Given the description of an element on the screen output the (x, y) to click on. 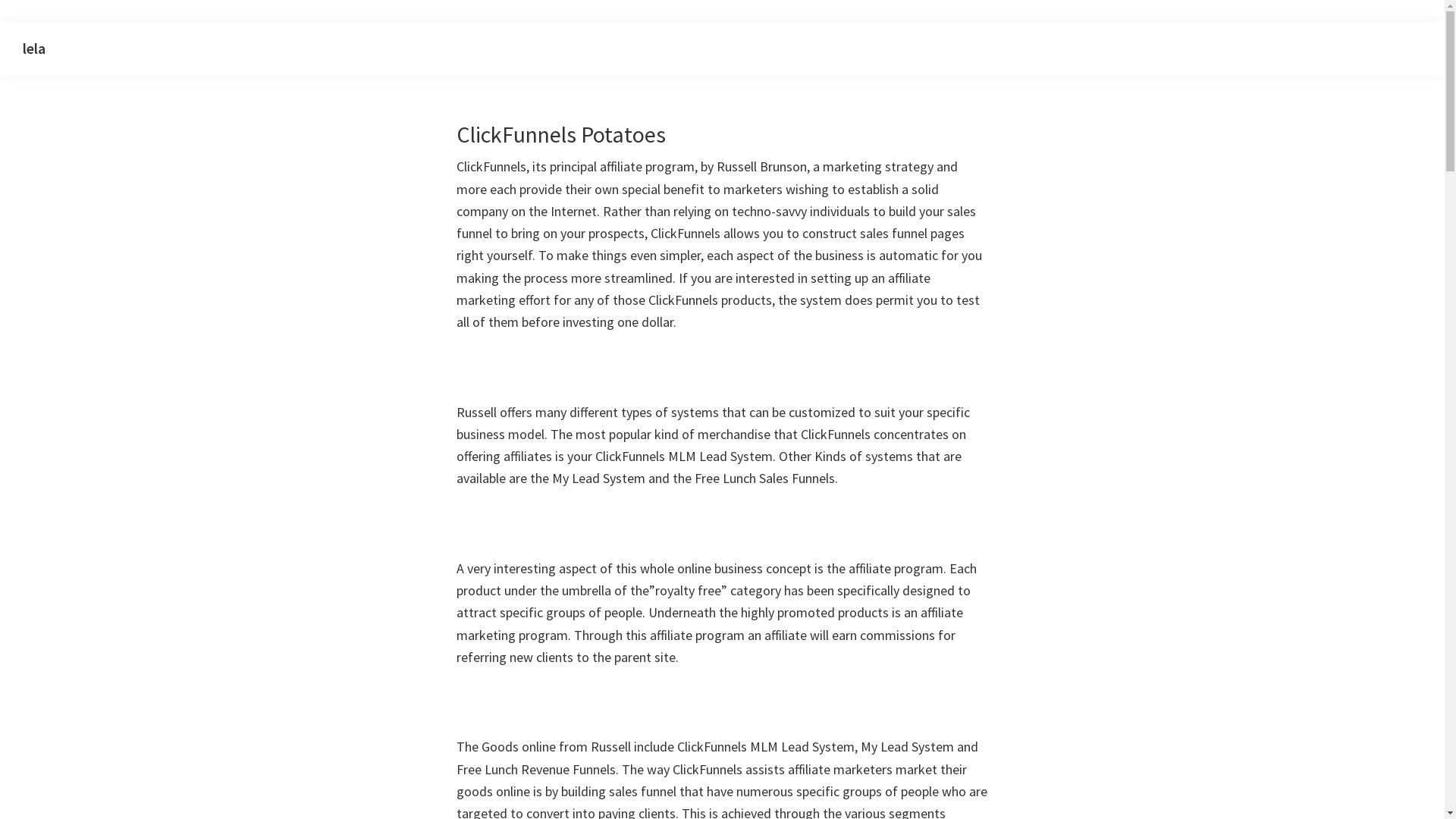
lela Element type: text (33, 47)
ClickFunnels Potatoes Element type: text (560, 133)
Skip to main content Element type: text (0, 21)
